Given the description of an element on the screen output the (x, y) to click on. 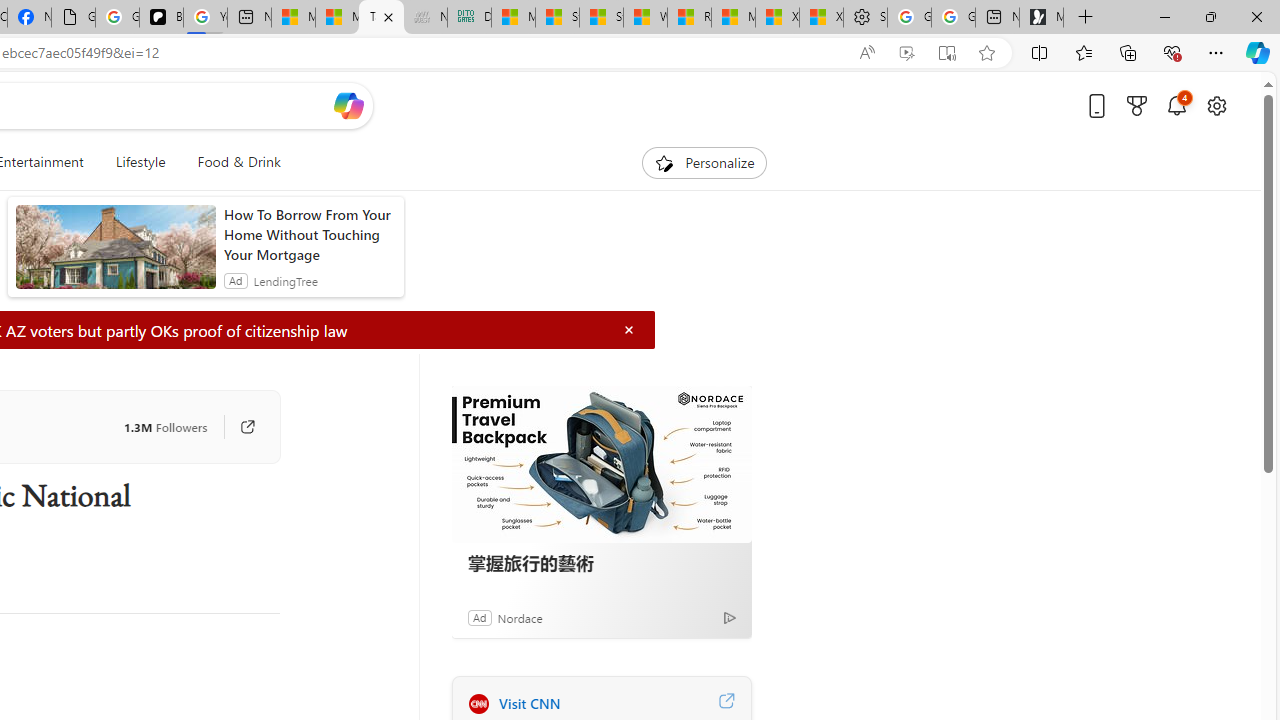
R******* | Trusted Community Engagement and Contributions (689, 17)
Microsoft Start Gaming (1041, 17)
LendingTree (285, 280)
How To Borrow From Your Home Without Touching Your Mortgage (308, 234)
anim-content (115, 255)
Lifestyle (140, 162)
Visit CNN website (726, 703)
